Given the description of an element on the screen output the (x, y) to click on. 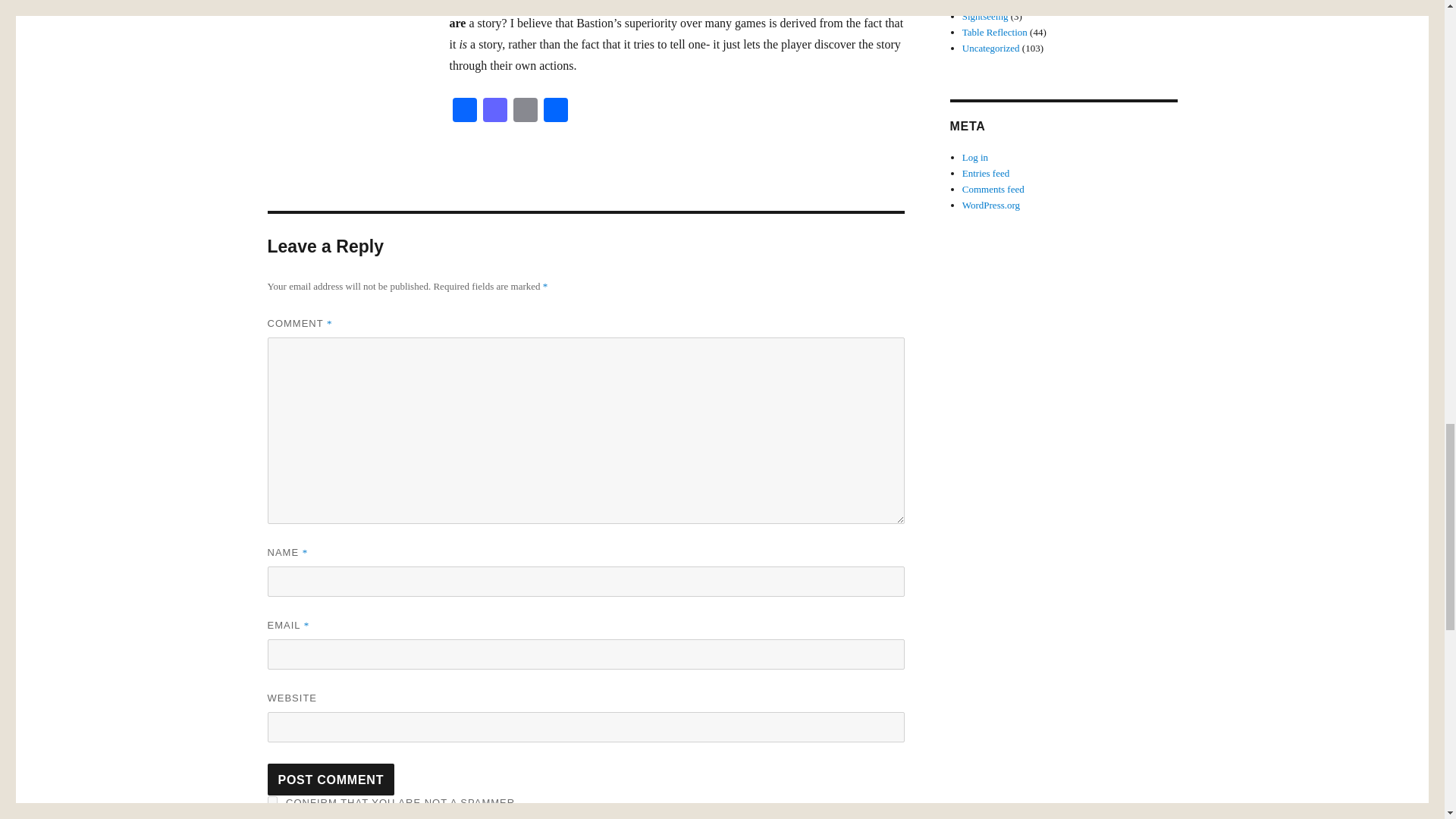
Post Comment (330, 779)
Post Comment (330, 779)
Email (524, 111)
Mastodon (494, 111)
Mastodon (494, 111)
Facebook (463, 111)
Facebook (463, 111)
on (271, 800)
Email (524, 111)
